Given the description of an element on the screen output the (x, y) to click on. 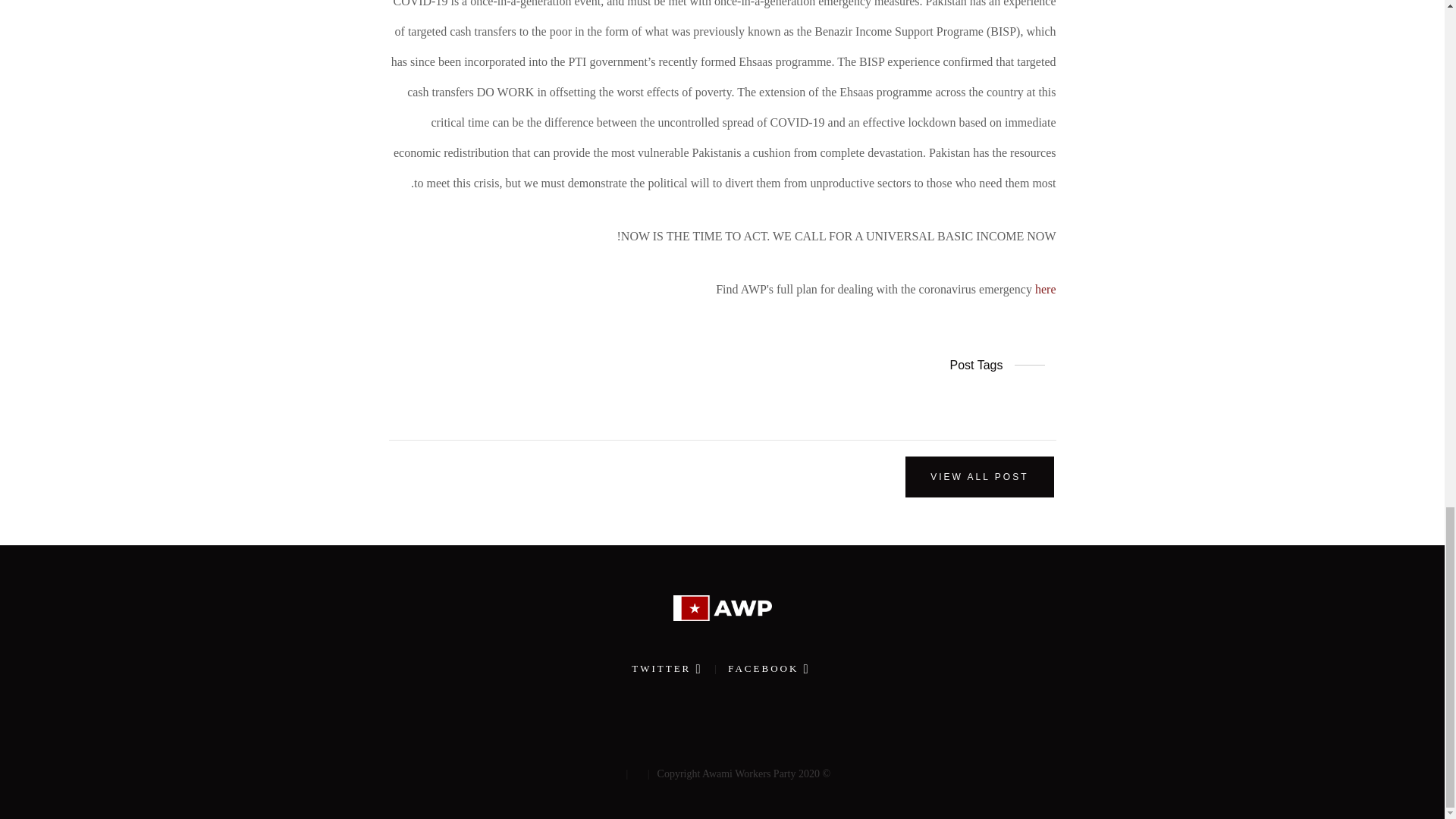
here (1046, 288)
VIEW ALL POST (978, 476)
FACEBOOK (764, 668)
TWITTER (665, 668)
